Given the description of an element on the screen output the (x, y) to click on. 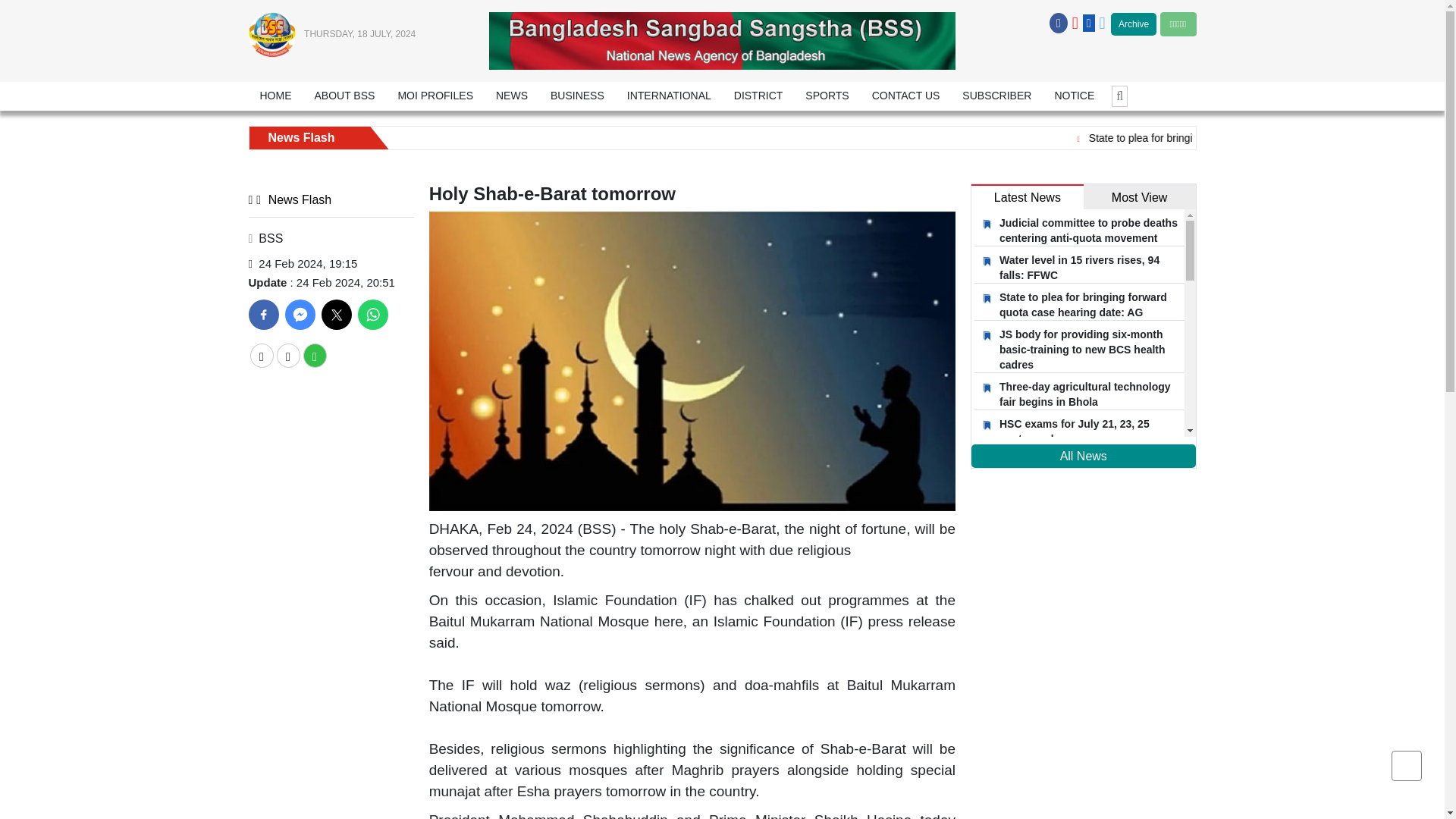
NEWS (511, 95)
ABOUT BSS (344, 95)
MOI PROFILES (434, 95)
Print news (314, 355)
Go to top (1406, 766)
HOME (275, 95)
Archive (1133, 24)
